Given the description of an element on the screen output the (x, y) to click on. 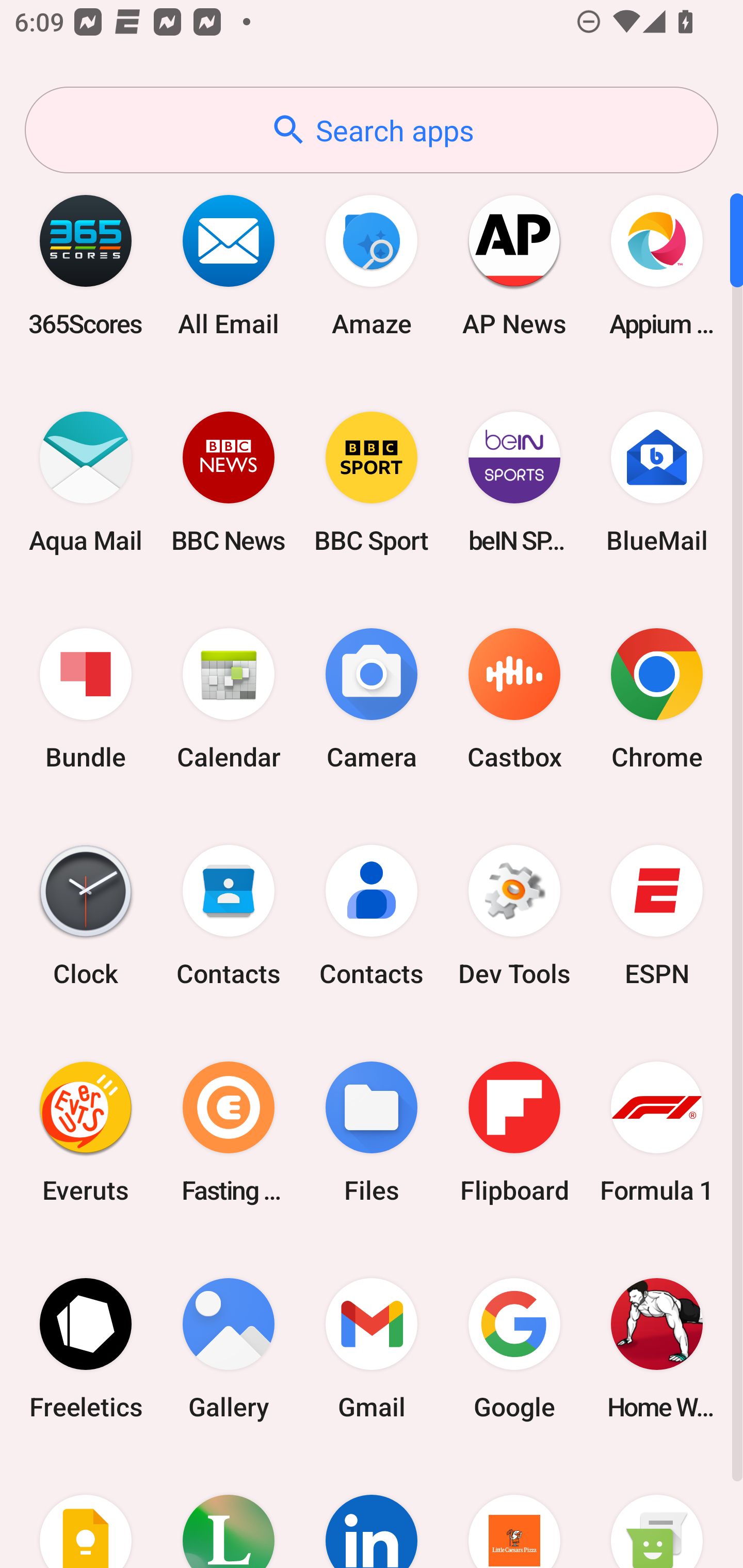
  Search apps (371, 130)
365Scores (85, 264)
All Email (228, 264)
Amaze (371, 264)
AP News (514, 264)
Appium Settings (656, 264)
Aqua Mail (85, 482)
BBC News (228, 482)
BBC Sport (371, 482)
beIN SPORTS (514, 482)
BlueMail (656, 482)
Bundle (85, 699)
Calendar (228, 699)
Camera (371, 699)
Castbox (514, 699)
Chrome (656, 699)
Clock (85, 915)
Contacts (228, 915)
Contacts (371, 915)
Dev Tools (514, 915)
ESPN (656, 915)
Everuts (85, 1131)
Fasting Coach (228, 1131)
Files (371, 1131)
Flipboard (514, 1131)
Formula 1 (656, 1131)
Freeletics (85, 1348)
Gallery (228, 1348)
Gmail (371, 1348)
Google (514, 1348)
Home Workout (656, 1348)
